Given the description of an element on the screen output the (x, y) to click on. 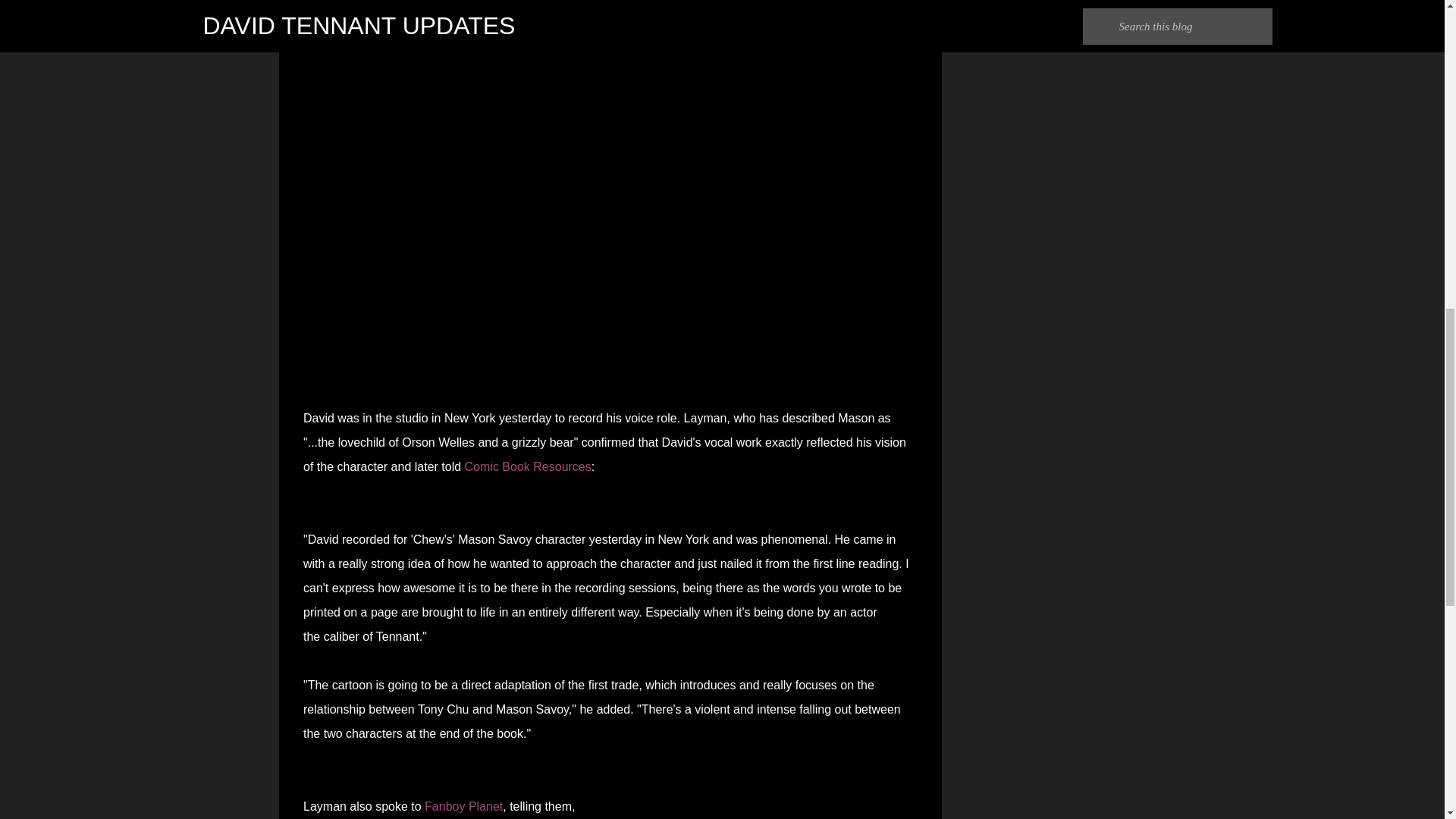
Fanboy Planet (463, 806)
Comic Book Resources (527, 466)
